Given the description of an element on the screen output the (x, y) to click on. 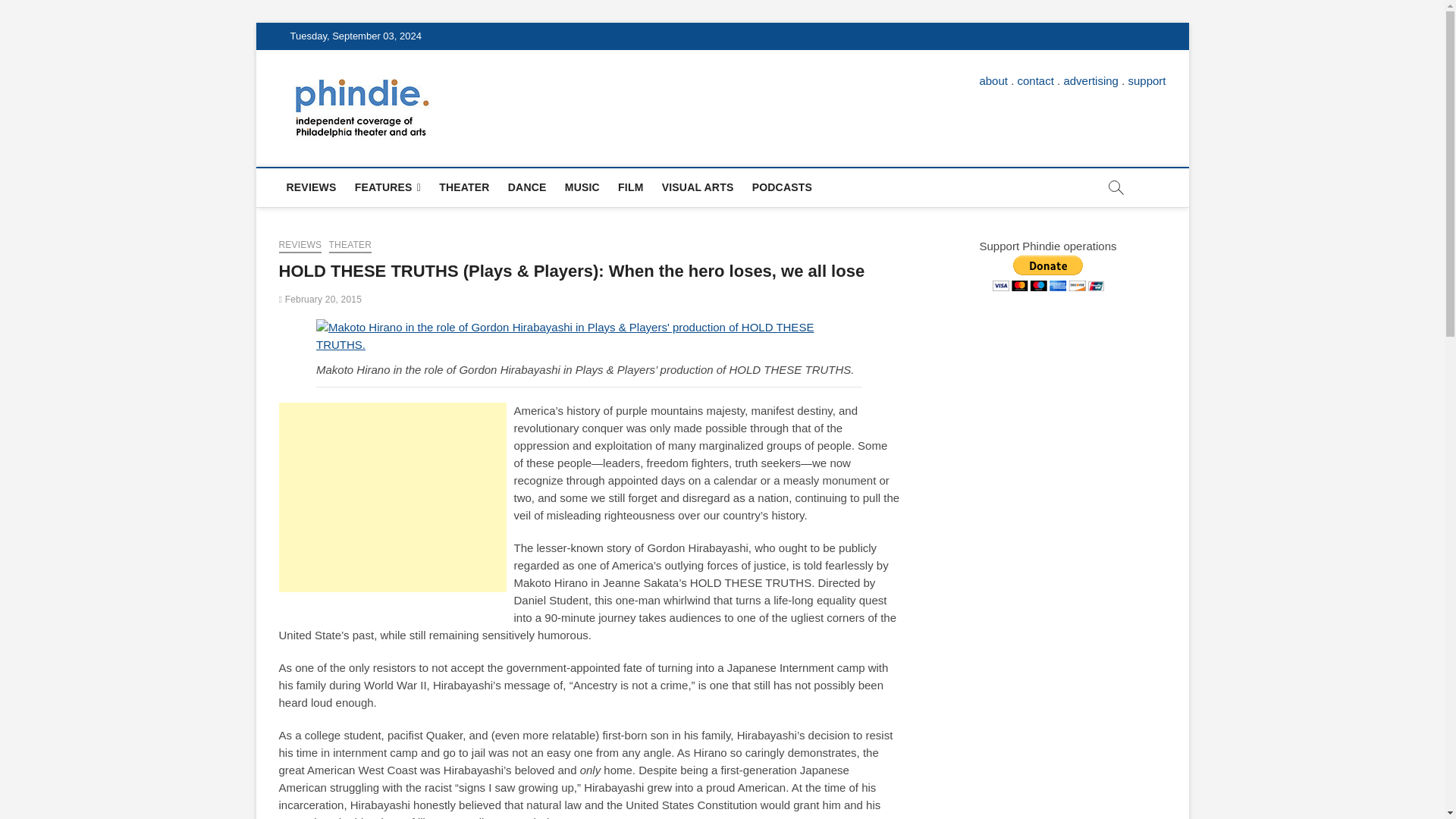
February 20, 2015 (320, 299)
phindie (478, 100)
about (992, 80)
DANCE (527, 187)
contact (1035, 80)
MUSIC (582, 187)
FEATURES (387, 187)
PODCASTS (781, 187)
THEATER (463, 187)
REVIEWS (300, 246)
